Given the description of an element on the screen output the (x, y) to click on. 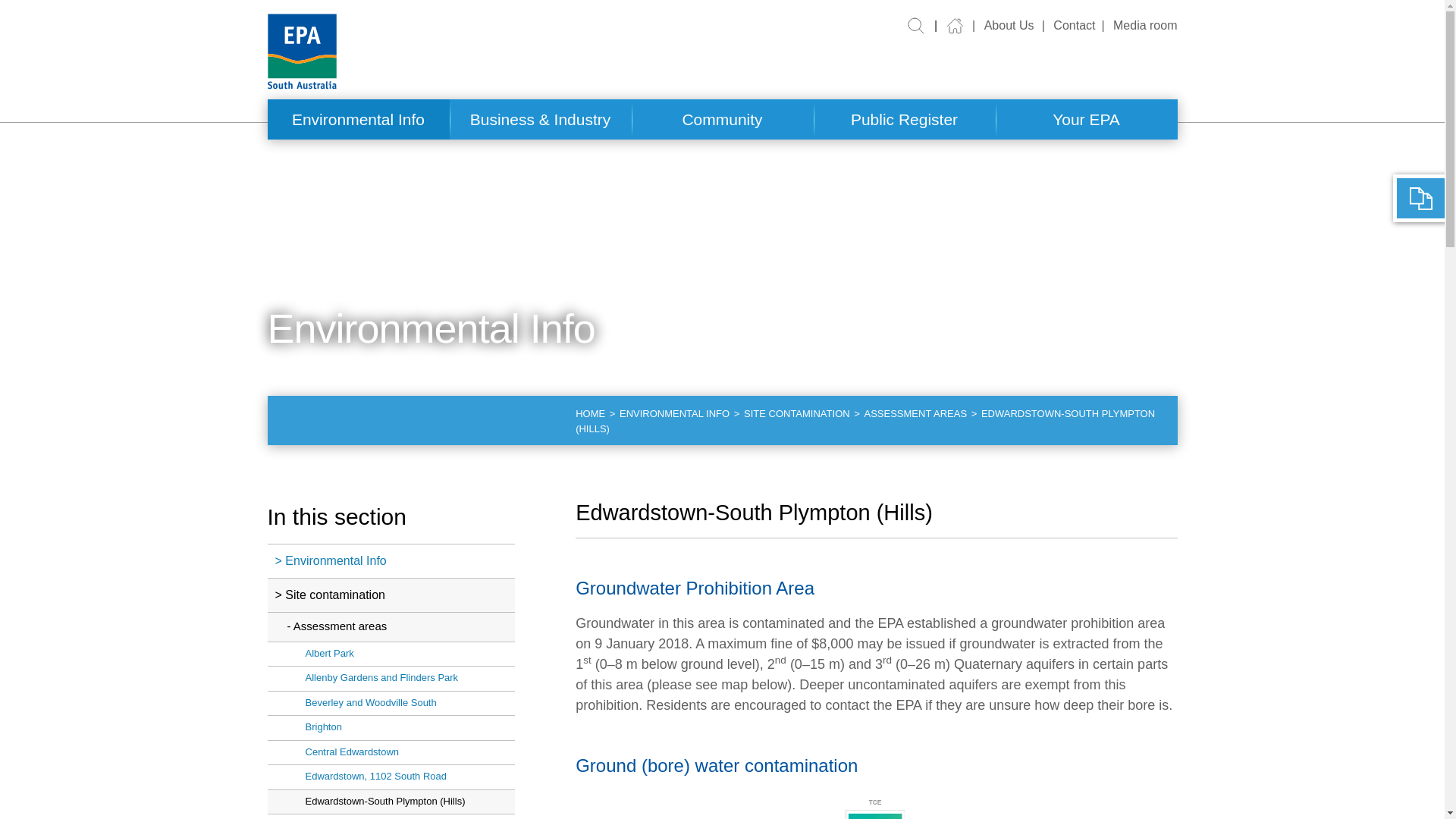
Home (954, 24)
Contact (1066, 25)
Environmental Info (357, 119)
About Us (999, 25)
Search the EPA website (916, 24)
EPA, South Australia (301, 51)
Media room (1136, 25)
